Given the description of an element on the screen output the (x, y) to click on. 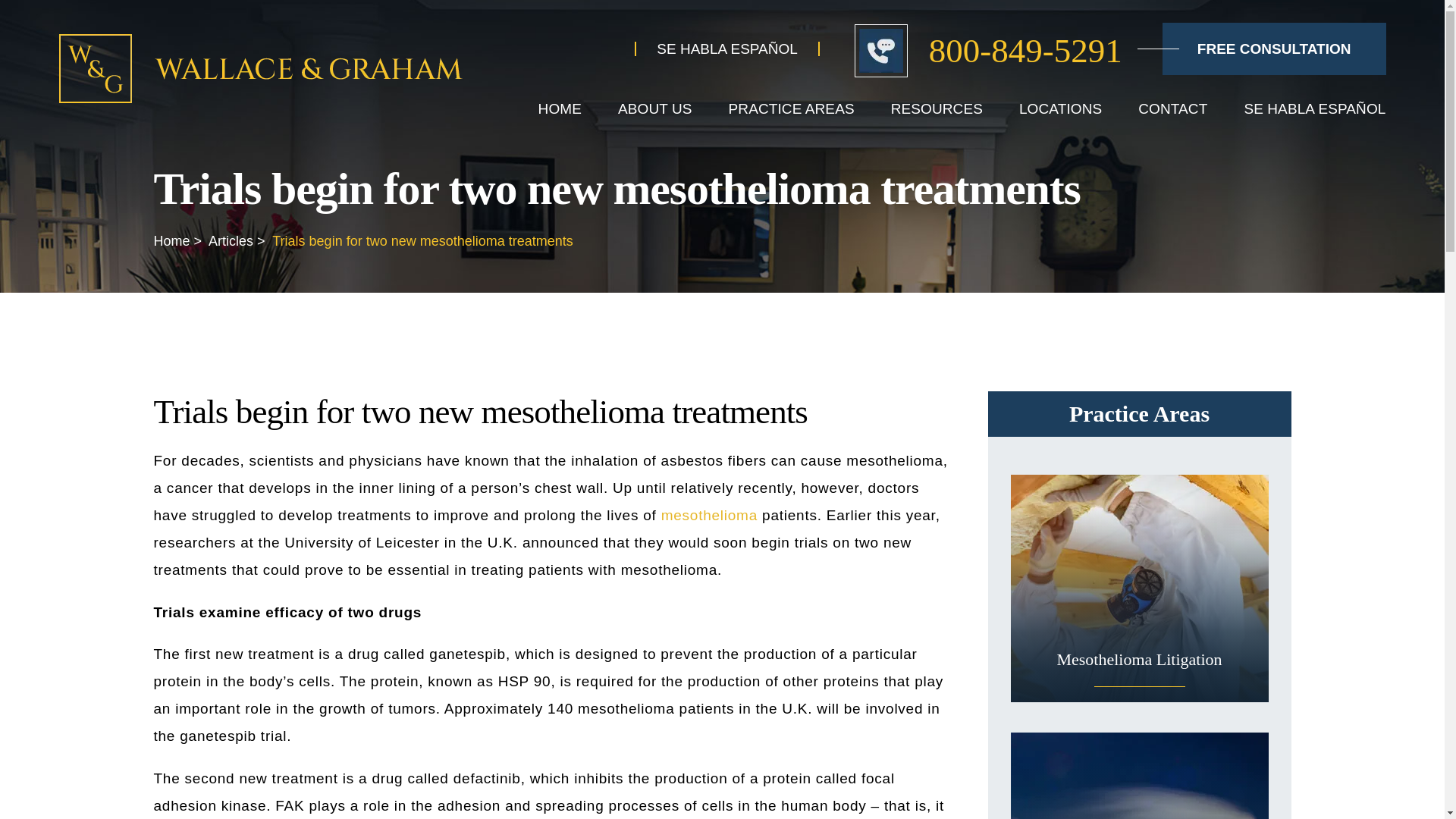
RESOURCES (936, 108)
FREE CONSULTATION (1273, 48)
PRACTICE AREAS (791, 108)
ABOUT US (655, 108)
CONTACT (1172, 108)
LOCATIONS (1060, 108)
800-849-5291 (988, 48)
HOME (559, 108)
